Given the description of an element on the screen output the (x, y) to click on. 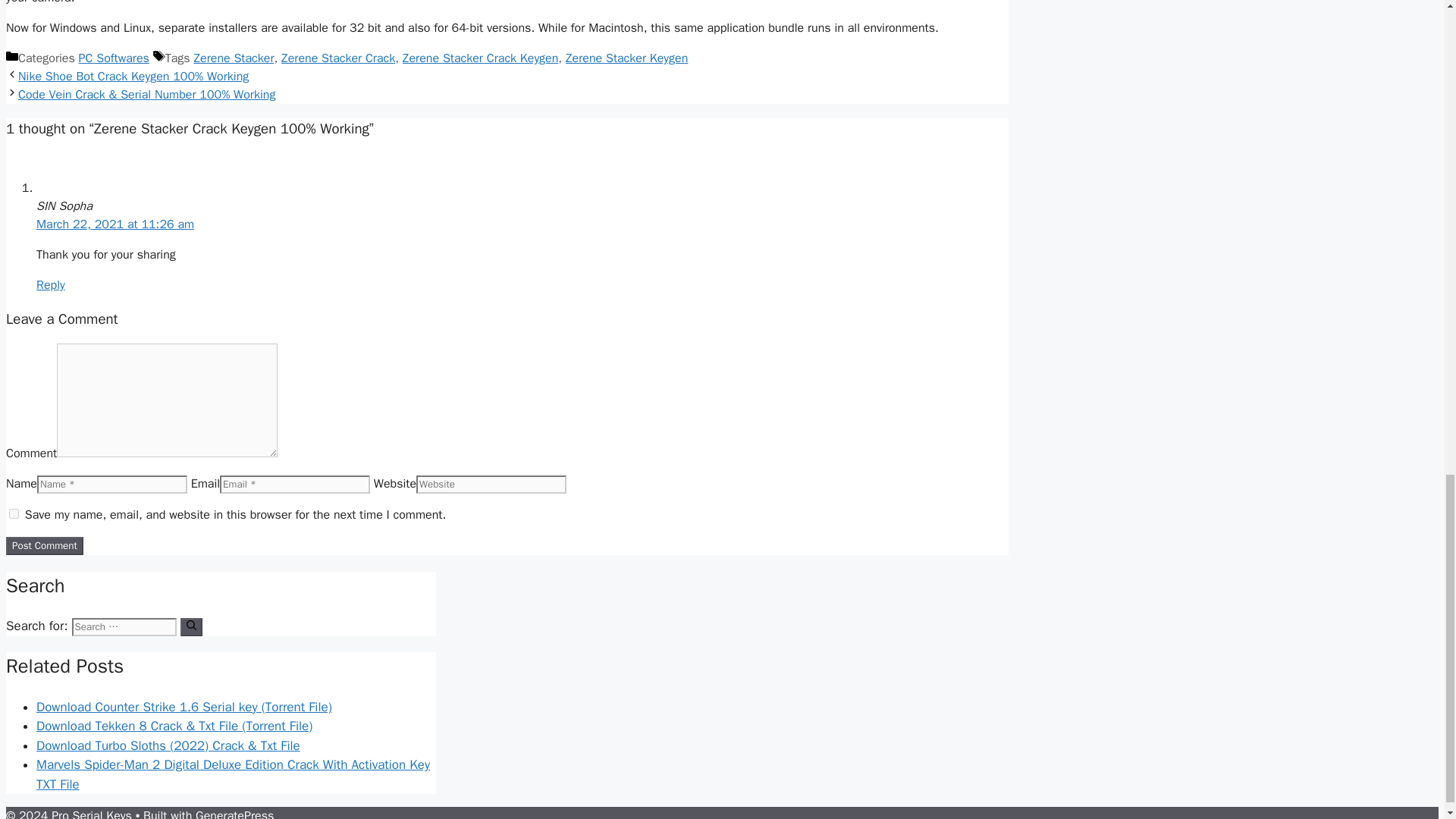
Post Comment (43, 546)
March 22, 2021 at 11:26 am (114, 224)
Zerene Stacker (233, 58)
Zerene Stacker Keygen (626, 58)
Zerene Stacker Crack Keygen (480, 58)
Reply (50, 284)
Post Comment (43, 546)
yes (13, 513)
Search for: (123, 627)
Zerene Stacker Crack (337, 58)
PC Softwares (113, 58)
